Given the description of an element on the screen output the (x, y) to click on. 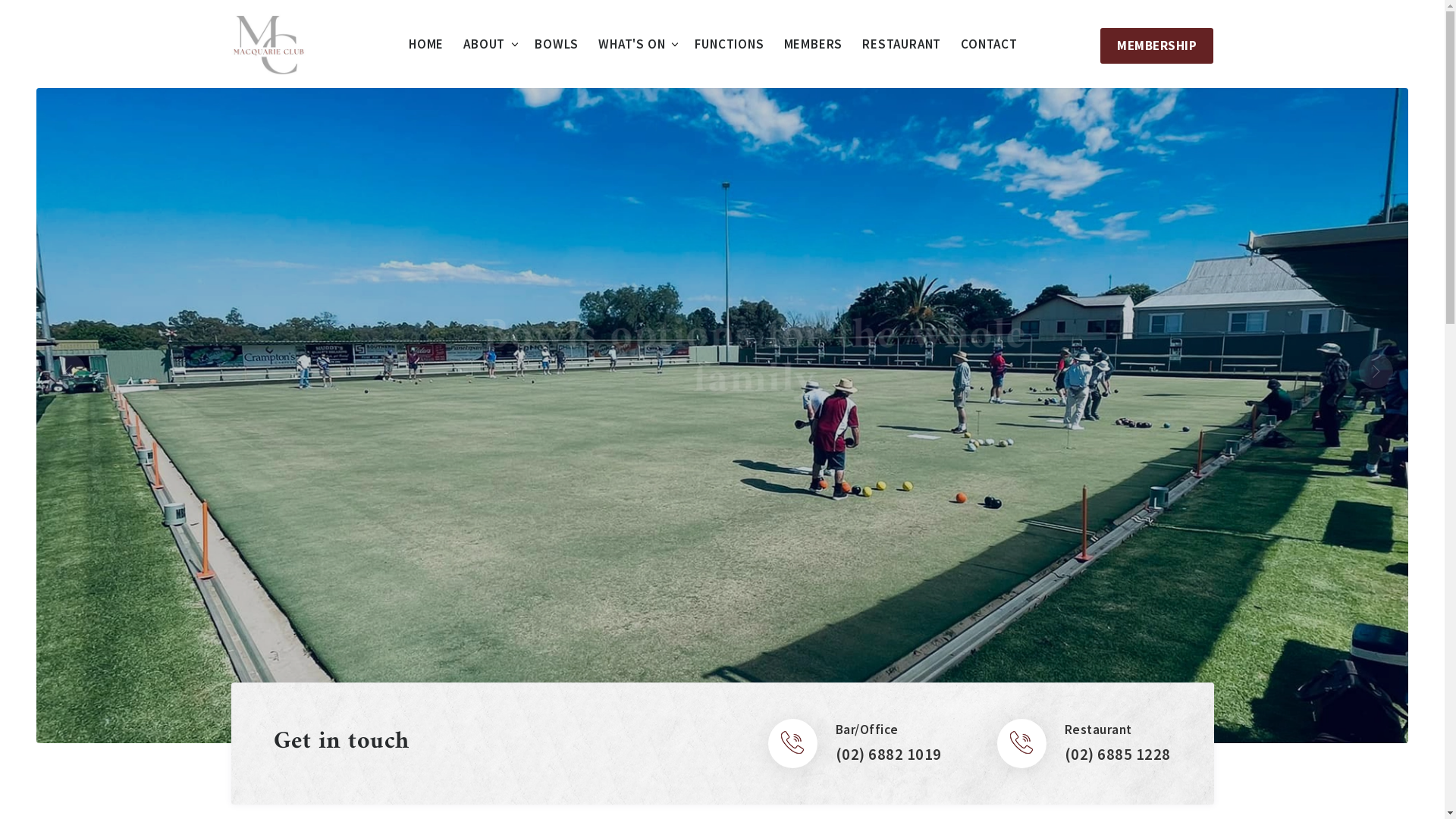
BOWLS Element type: text (556, 44)
MEMBERS Element type: text (813, 44)
FUNCTIONS Element type: text (728, 44)
FIND OUT MORE Element type: text (722, 496)
MEMBERSHIP Element type: text (1156, 45)
(02) 6882 1019 Element type: text (888, 754)
WHAT'S ON Element type: text (631, 44)
(02) 6885 1228 Element type: text (1117, 754)
HOME Element type: text (425, 44)
CONTACT Element type: text (988, 44)
RESTAURANT Element type: text (901, 44)
ABOUT Element type: text (484, 44)
